Given the description of an element on the screen output the (x, y) to click on. 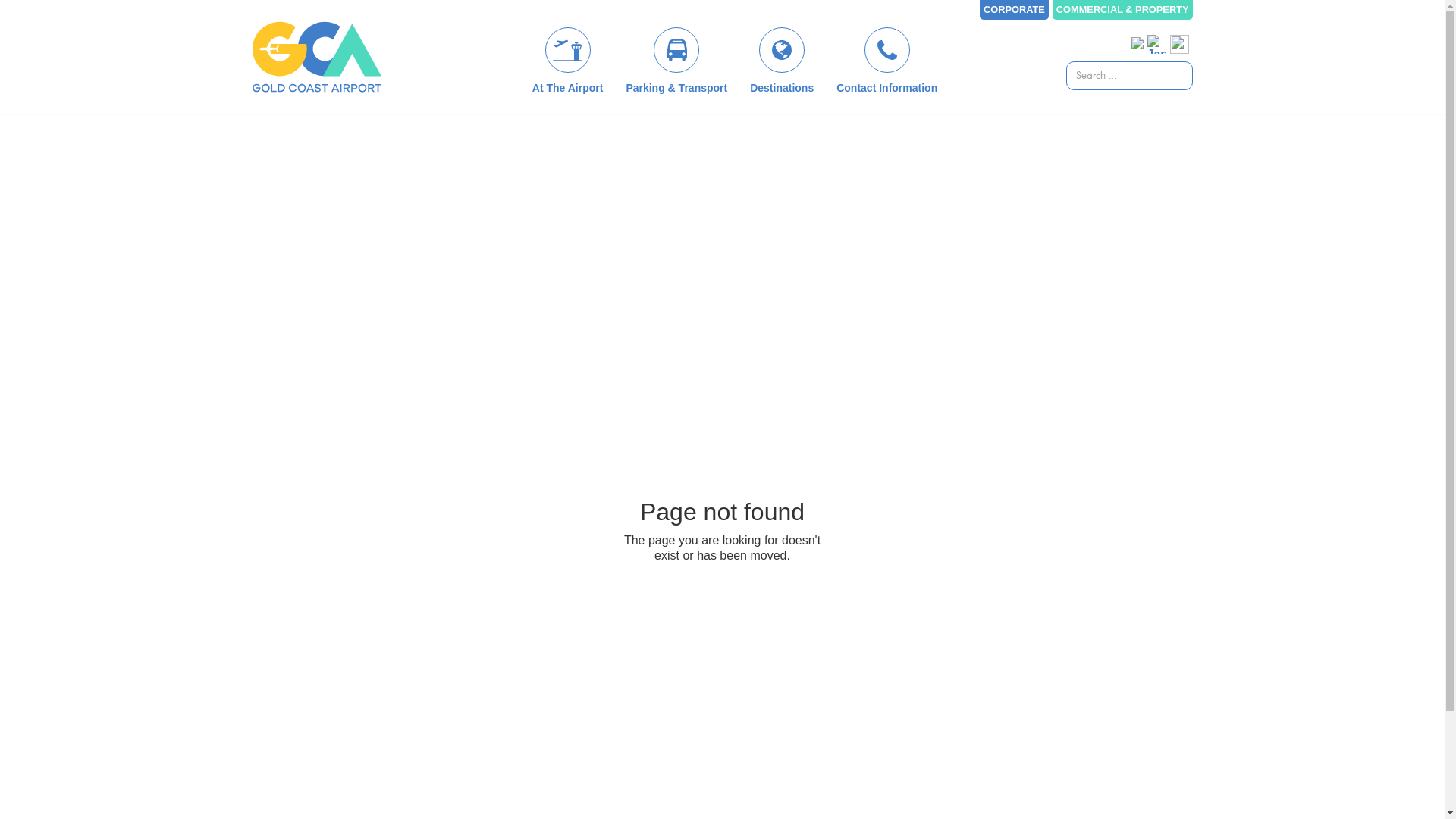
Search Element type: text (30, 14)
CORPORATE Element type: text (1013, 9)
Parking & Transport Element type: text (676, 61)
At The Airport Element type: text (567, 61)
COMMERCIAL & PROPERTY Element type: text (1122, 9)
Contact Information Element type: text (886, 61)
Destinations Element type: text (781, 61)
